Given the description of an element on the screen output the (x, y) to click on. 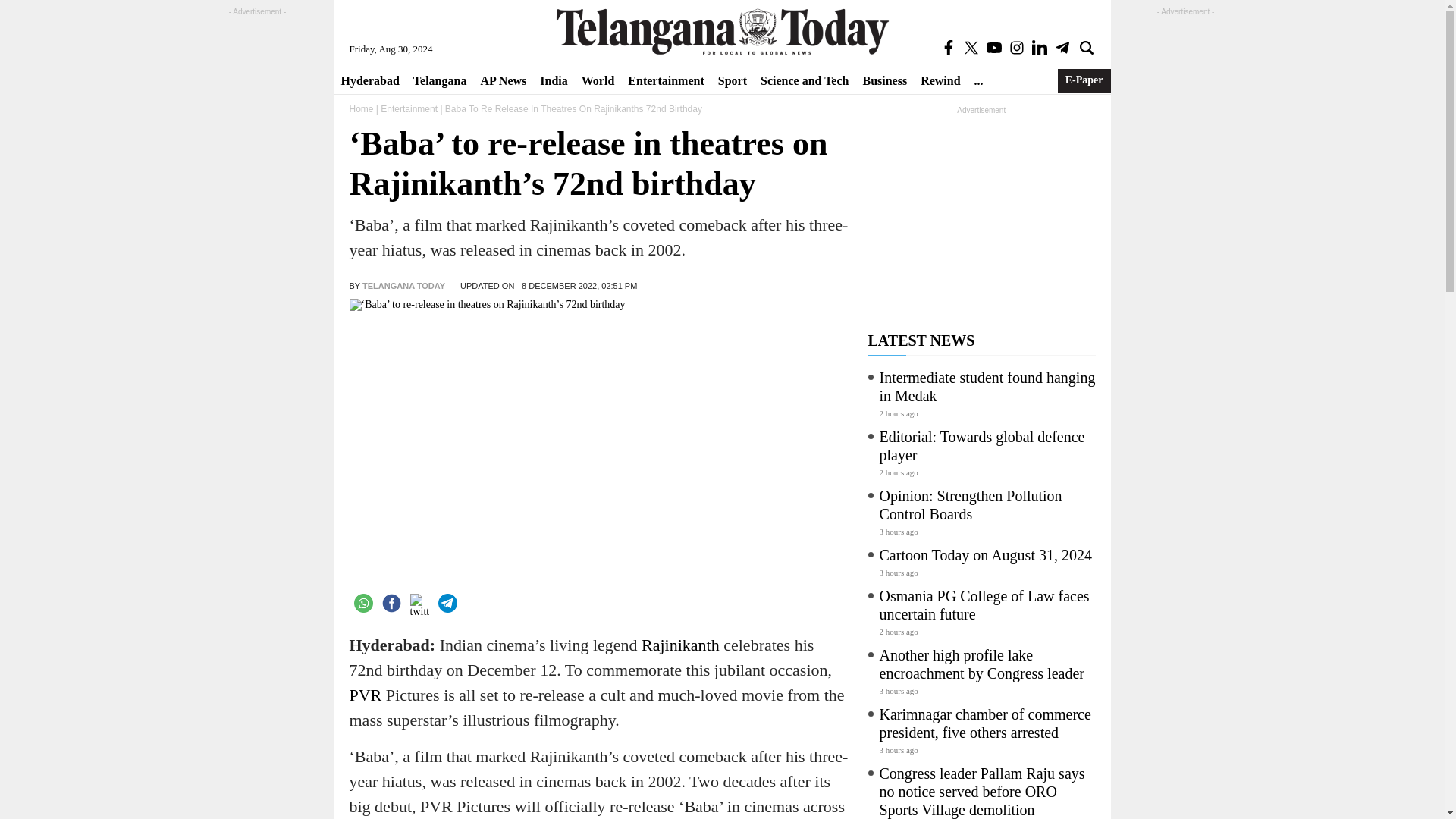
World (598, 80)
English News (722, 31)
... (979, 80)
Science and Tech (805, 80)
World (598, 80)
Entertainment (665, 80)
Telangana (440, 80)
Business (885, 80)
TELANGANA TODAY (403, 285)
E-Paper (1084, 80)
